Given the description of an element on the screen output the (x, y) to click on. 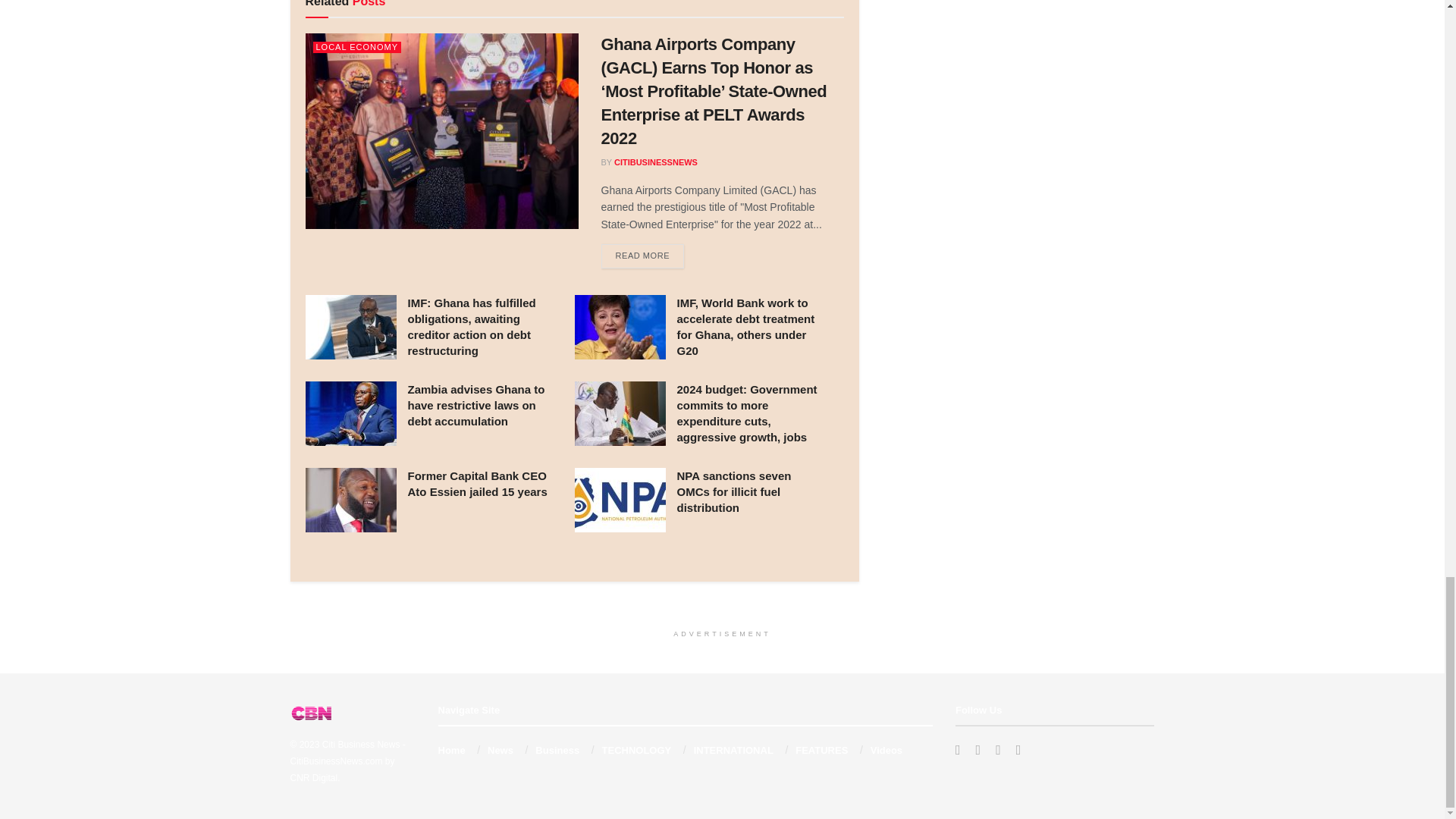
Citi Business News (360, 744)
CNR Digital (313, 777)
